Given the description of an element on the screen output the (x, y) to click on. 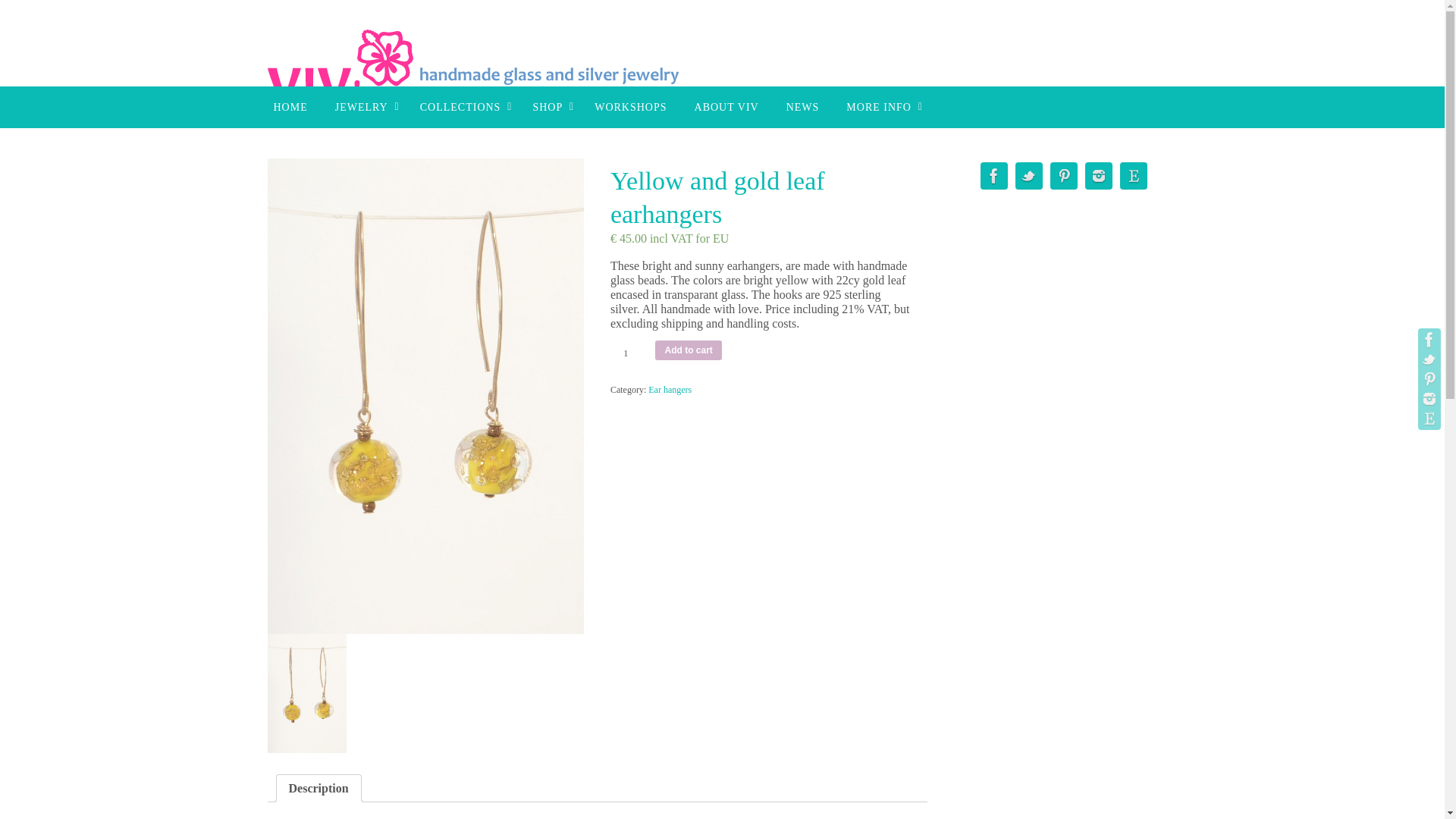
ABOUT VIV (727, 106)
1 (631, 352)
HOME (289, 106)
Description (317, 787)
Qty (631, 352)
Ear hangers (669, 388)
JEWELRY (363, 106)
NEWS (802, 106)
WORKSHOPS (629, 106)
COLLECTIONS (462, 106)
SHOP (549, 106)
MORE INFO (881, 106)
Viv's Design (497, 67)
Add to cart (687, 349)
